Given the description of an element on the screen output the (x, y) to click on. 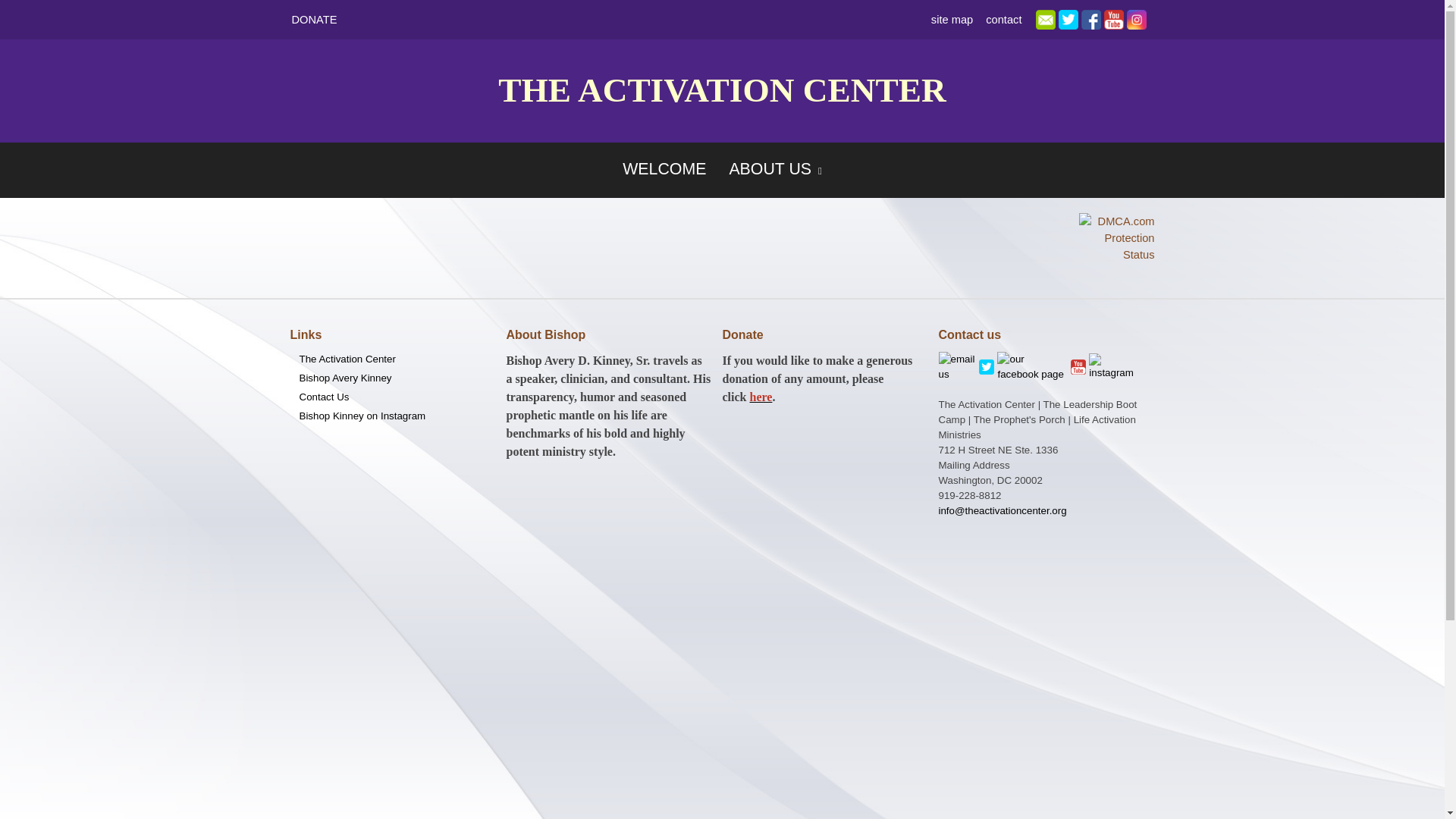
Bishop Kinney on Instagram (392, 416)
The Activation Center (392, 359)
site map (952, 19)
contact (1004, 19)
Bishop Avery Kinney (392, 378)
WELCOME (664, 168)
ABOUT US (774, 169)
DMCA.com Protection Status (1116, 236)
DONATE (314, 19)
here (760, 396)
